Given the description of an element on the screen output the (x, y) to click on. 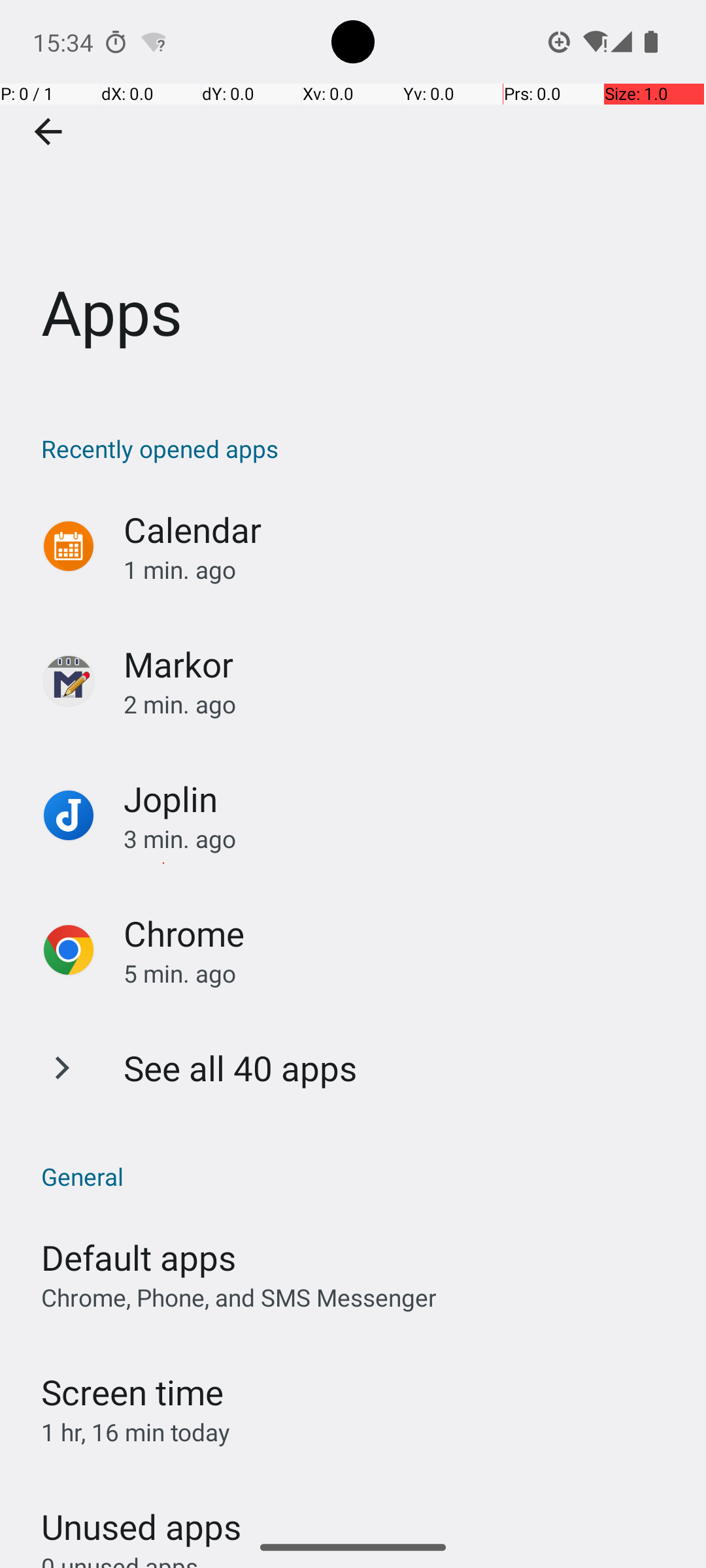
5 min. ago Element type: android.widget.TextView (400, 972)
See all 40 apps Element type: android.widget.TextView (239, 1067)
1 hr, 16 min today Element type: android.widget.TextView (135, 1431)
